Given the description of an element on the screen output the (x, y) to click on. 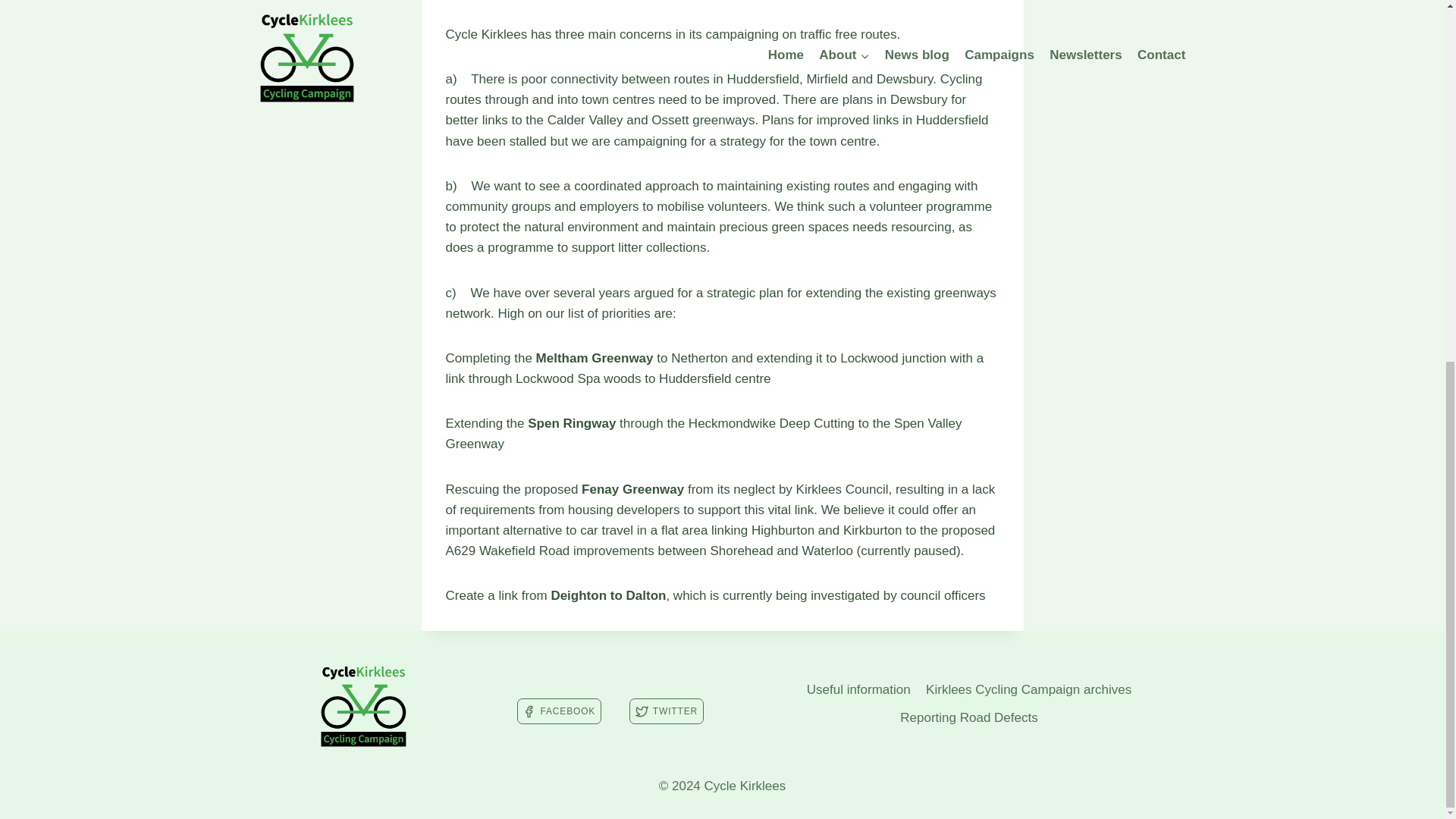
TWITTER (665, 710)
Reporting Road Defects (968, 717)
Useful information (858, 689)
Kirklees Cycling Campaign archives (1029, 689)
FACEBOOK (558, 710)
